Given the description of an element on the screen output the (x, y) to click on. 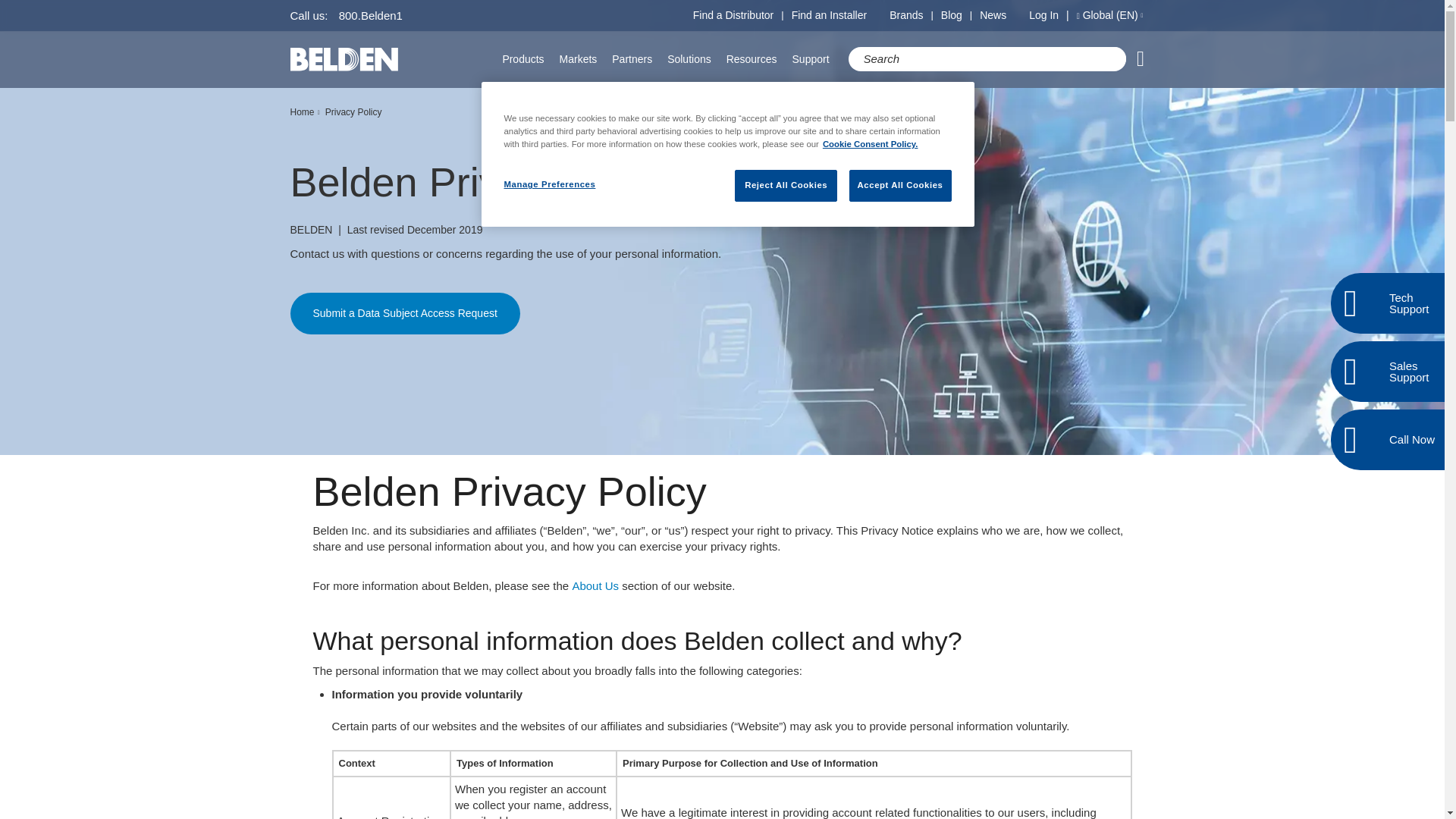
Brands (906, 15)
Blog (951, 15)
News (992, 15)
Find a Distributor (733, 15)
Brands (906, 15)
Find an Installer (829, 15)
News (992, 15)
Belden (343, 59)
Belden (343, 59)
Blog (951, 15)
Find an Installer (829, 15)
Find a Distributor (733, 15)
800.Belden1 (370, 15)
Log In (1053, 15)
